Given the description of an element on the screen output the (x, y) to click on. 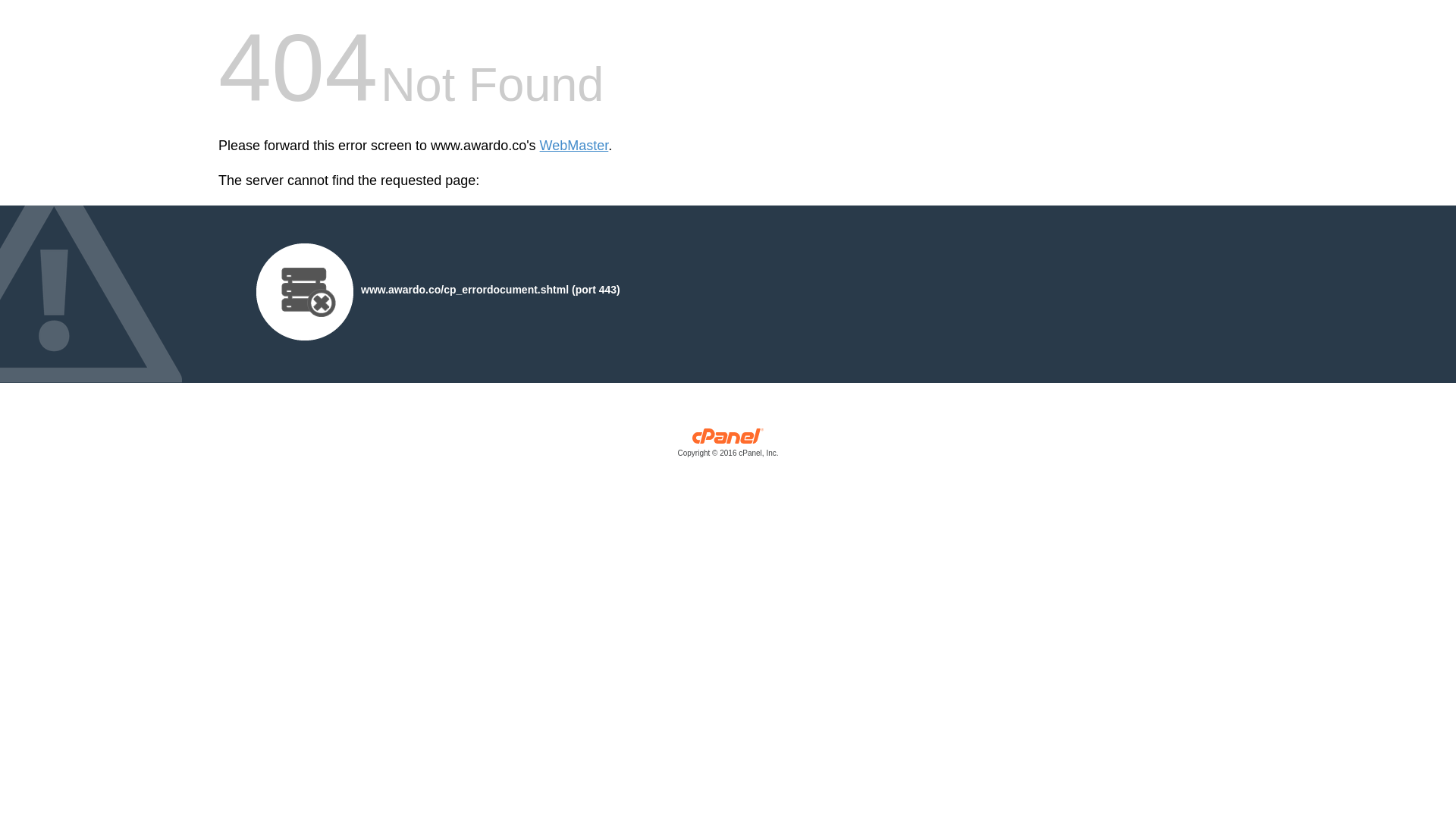
WebMaster (574, 145)
cPanel, Inc. (727, 446)
